Given the description of an element on the screen output the (x, y) to click on. 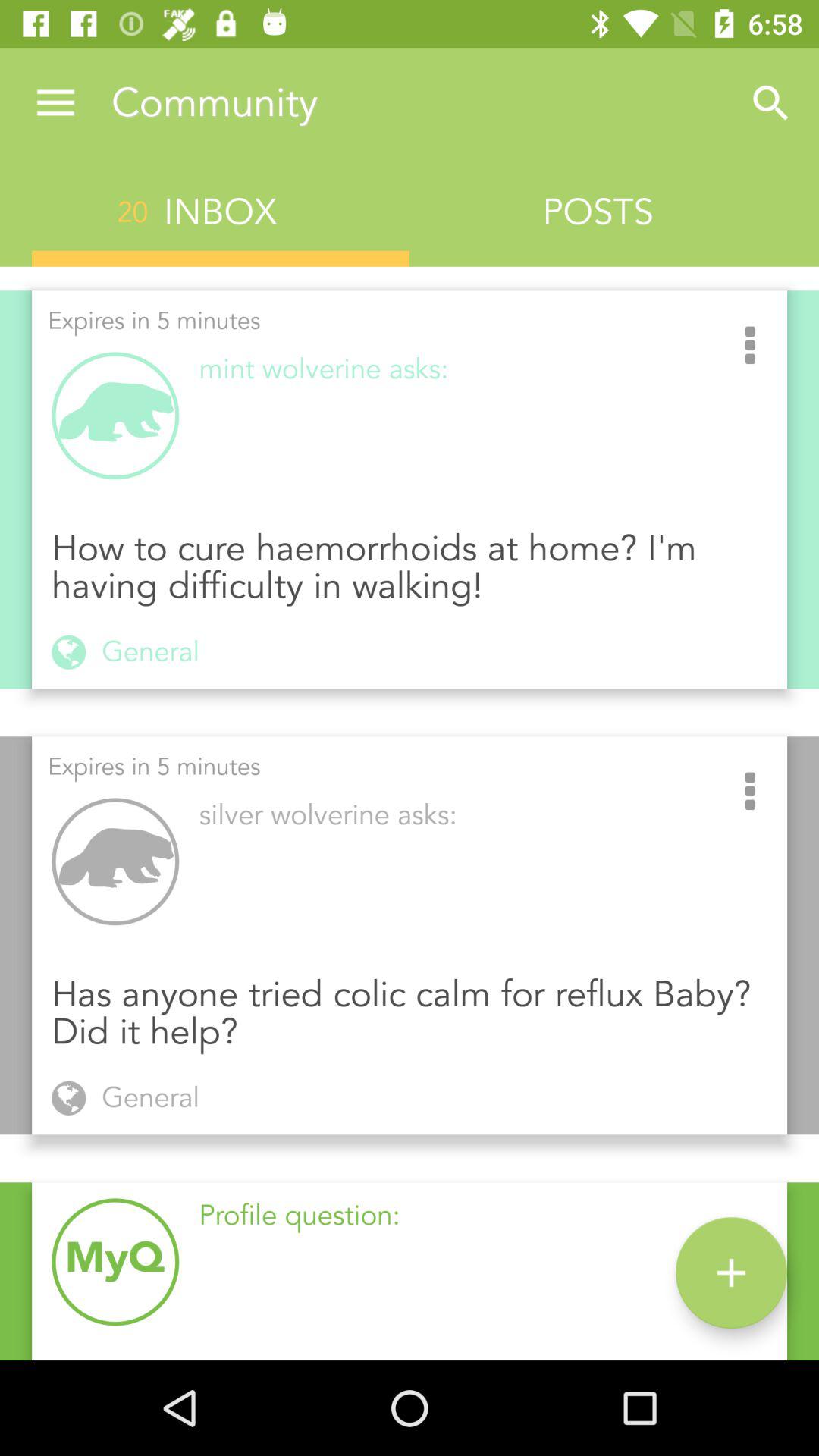
turn off icon to the left of the community (55, 103)
